Given the description of an element on the screen output the (x, y) to click on. 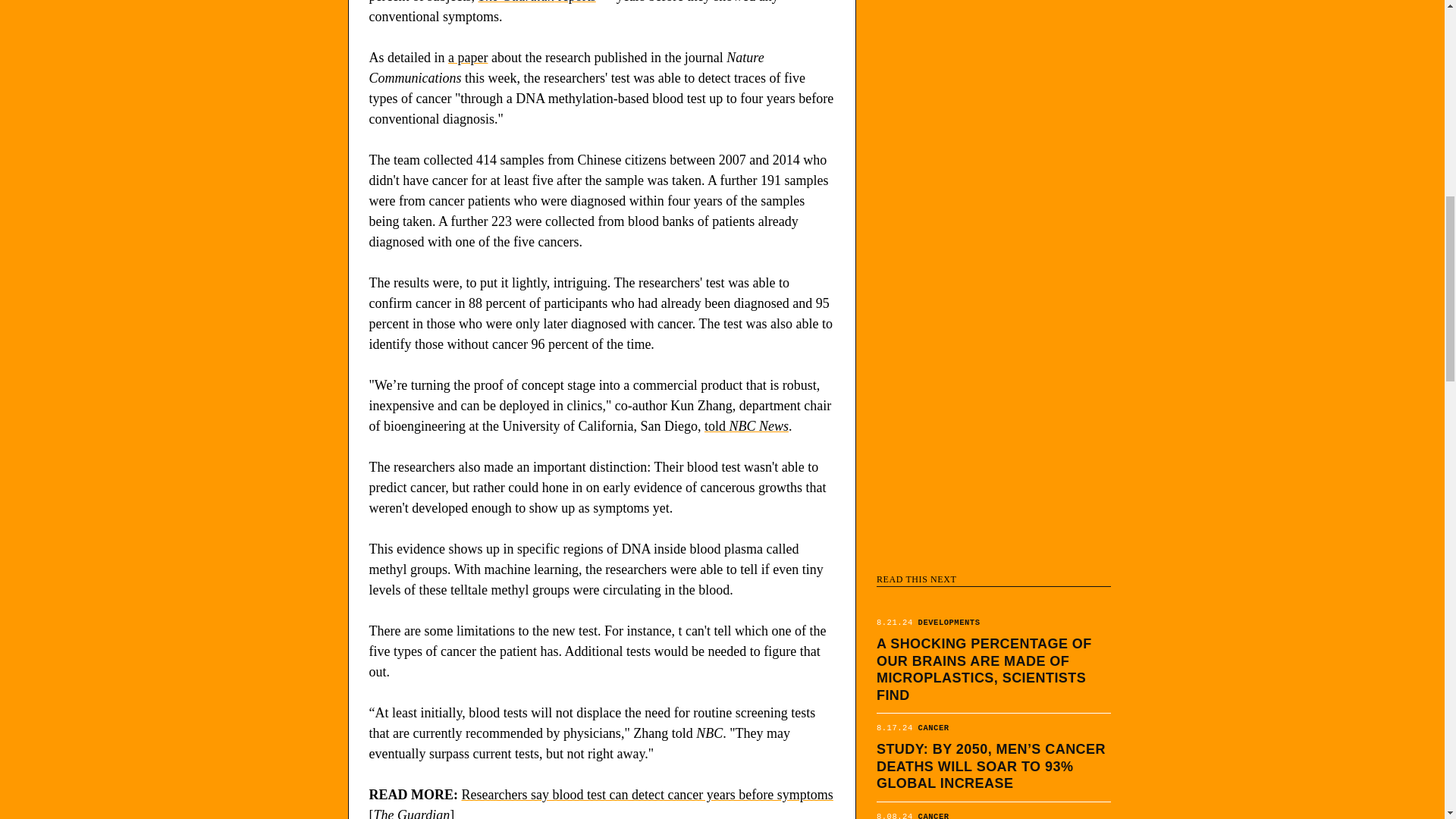
told NBC News (746, 426)
Microplastics Likely Causing Wave of Cancer in Young People (993, 810)
The Guardian reports (536, 2)
a paper (467, 57)
